Given the description of an element on the screen output the (x, y) to click on. 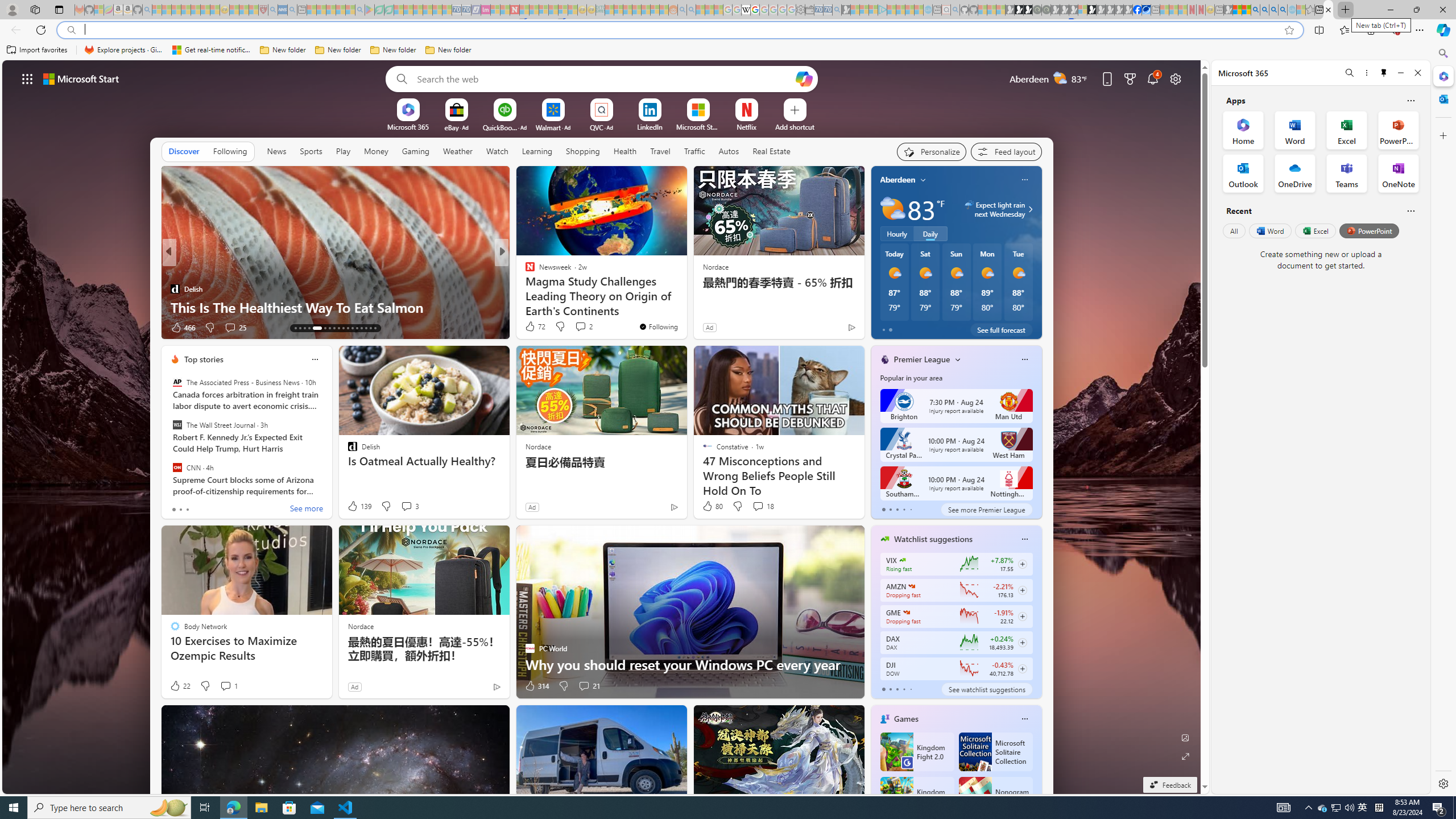
Traffic (694, 151)
Cheap Car Rentals - Save70.com - Sleeping (827, 9)
View comments 6 Comment (583, 327)
Jobs - lastminute.com Investor Portal - Sleeping (485, 9)
Learning (536, 151)
Traffic (694, 151)
Address and search bar (681, 29)
Microsoft start (81, 78)
AutomationID: backgroundImagePicture (601, 426)
Aberdeen (897, 179)
AutomationID: tab-19 (329, 328)
Partly sunny (892, 208)
New folder (448, 49)
